Given the description of an element on the screen output the (x, y) to click on. 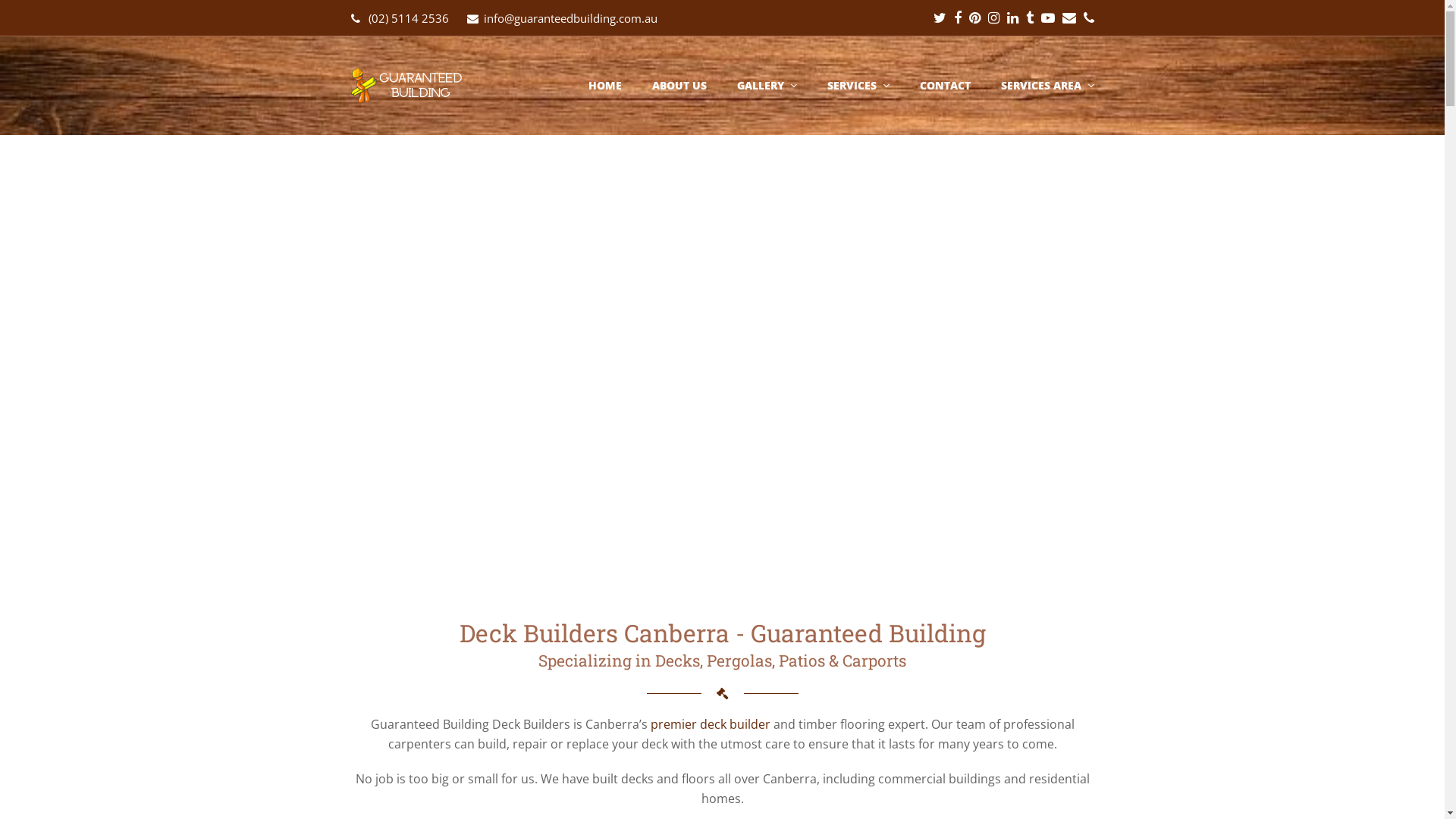
LinkedIn Element type: text (1012, 17)
info@guaranteedbuilding.com.au Element type: text (570, 17)
Phone Element type: text (1087, 17)
Email Element type: text (1068, 17)
Pinterest Element type: text (974, 17)
CONTACT Element type: text (945, 85)
Youtube Element type: text (1047, 17)
Facebook Element type: text (957, 17)
HOME Element type: text (604, 85)
ABOUT US Element type: text (678, 85)
(02) 5114 2536 Element type: text (408, 17)
Tumblr Element type: text (1028, 17)
Twitter Element type: text (938, 17)
SERVICES AREA Element type: text (1046, 85)
GALLERY Element type: text (765, 85)
Instagram Element type: text (992, 17)
SERVICES Element type: text (857, 85)
premier deck builder Element type: text (710, 723)
